Given the description of an element on the screen output the (x, y) to click on. 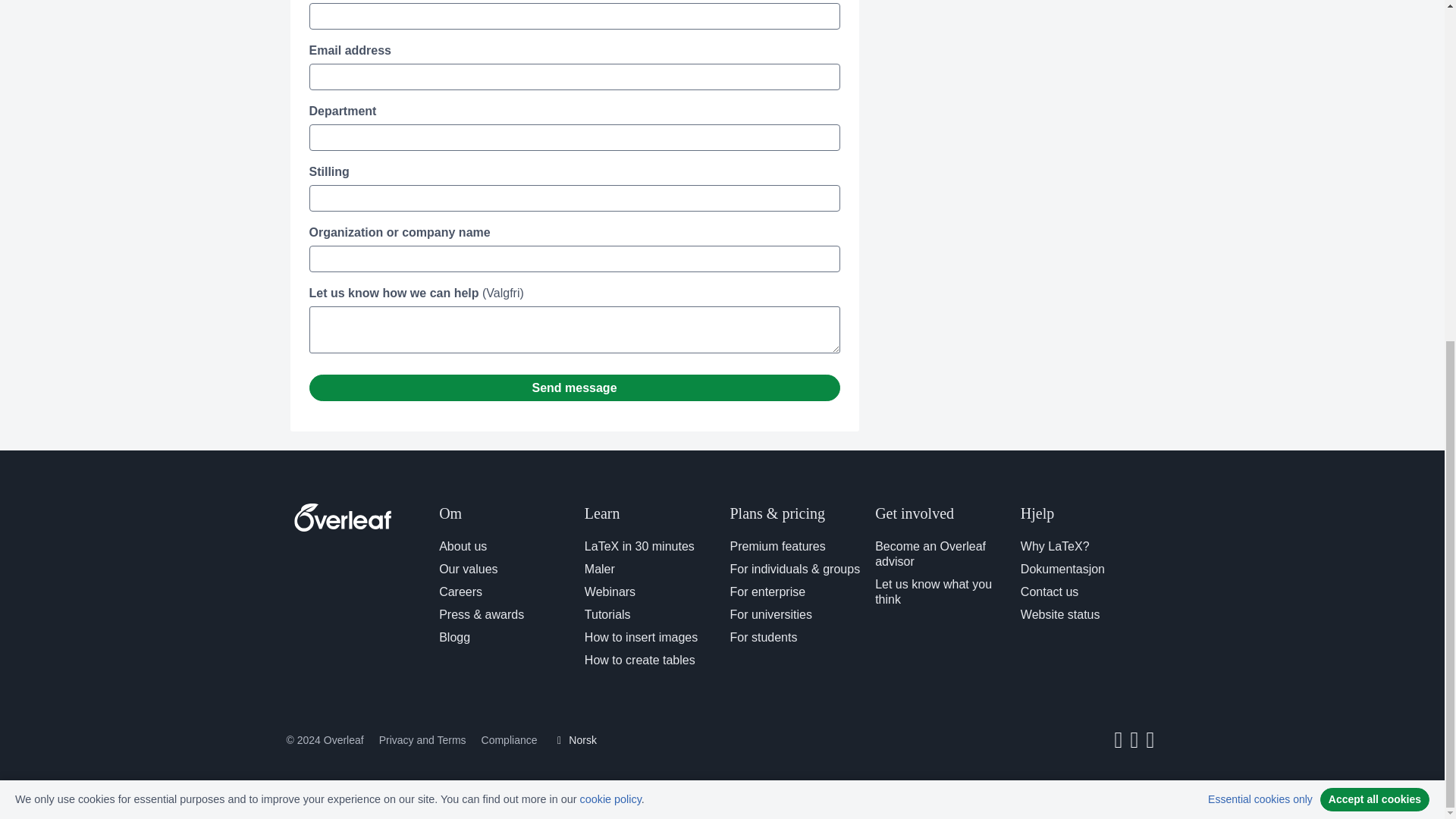
Premium features (777, 545)
Careers (460, 591)
Become an Overleaf advisor (930, 553)
Webinars (609, 591)
Tutorials (607, 614)
Blogg (454, 636)
Let us know what you think (933, 592)
Send message (574, 387)
For universities (769, 614)
Why LaTeX? (1054, 545)
Our values (468, 568)
How to insert images (641, 636)
For enterprise (767, 591)
Maler (599, 568)
For students (762, 636)
